Given the description of an element on the screen output the (x, y) to click on. 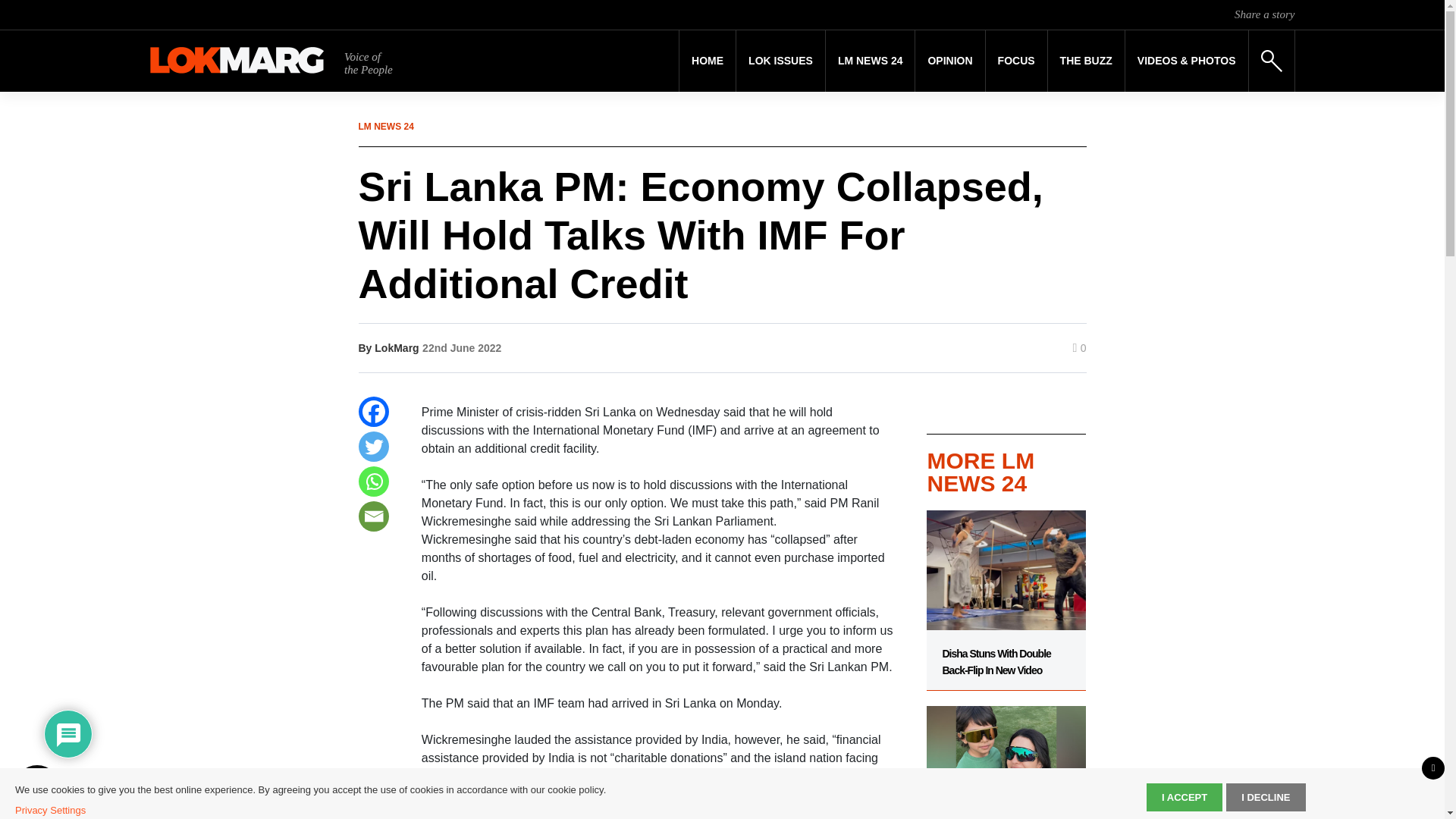
Lok Issues (780, 60)
Facebook (373, 411)
THE BUZZ (1086, 60)
FOCUS (1015, 60)
LokMarg (396, 347)
Share a story (1264, 14)
Whatsapp (373, 481)
LOK ISSUES (780, 60)
THE BUZZ (1086, 60)
Twitter (373, 446)
LM News 24 (870, 60)
LM NEWS 24 (870, 60)
HOME (707, 60)
Focus (1015, 60)
